Given the description of an element on the screen output the (x, y) to click on. 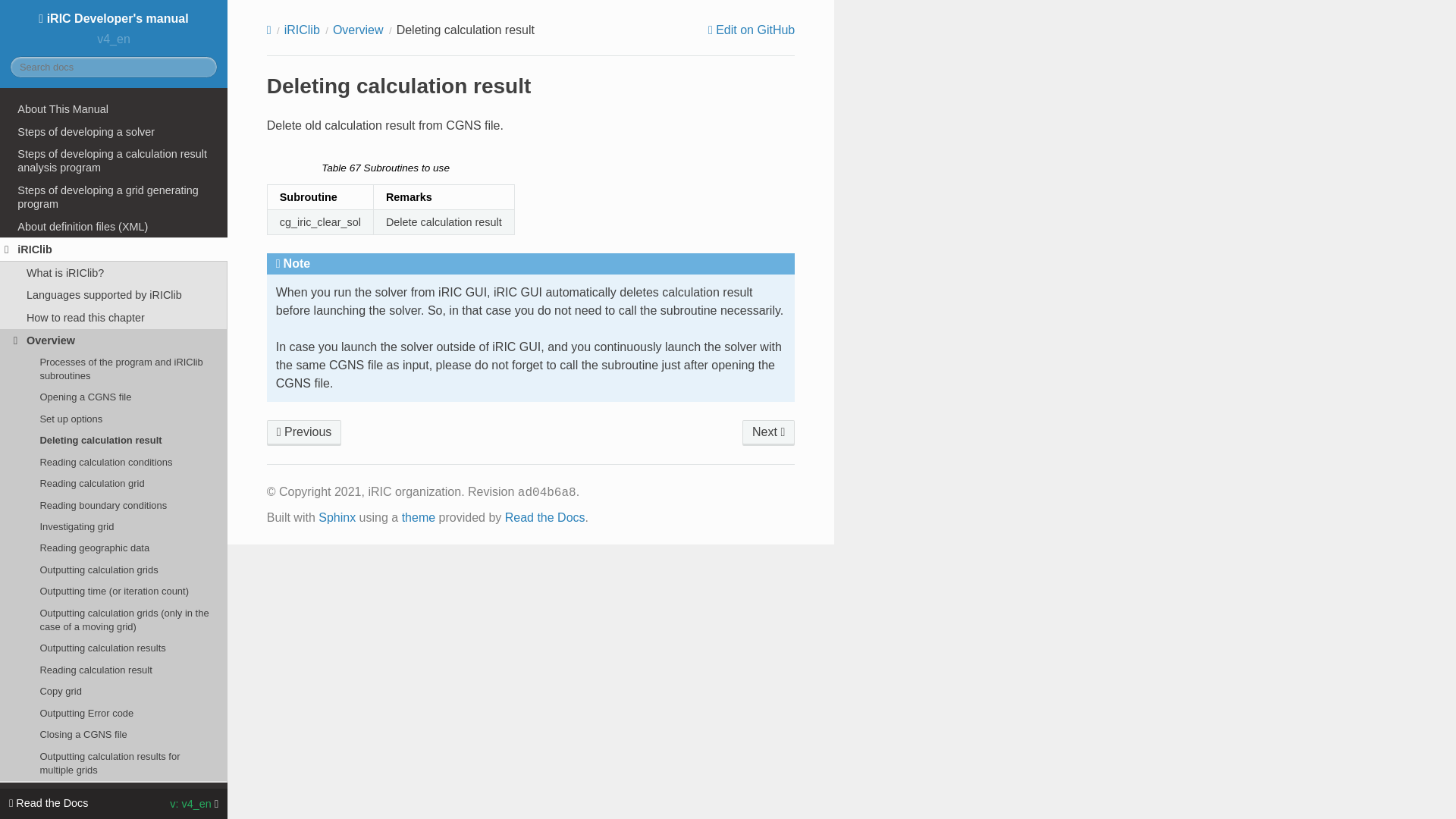
Reading calculation grid (113, 483)
Overview (113, 340)
Reading calculation result (113, 670)
Reading calculation conditions (113, 461)
Reading calculation conditions (768, 432)
About This Manual (113, 108)
Steps of developing a grid generating program (113, 197)
Investigating grid (113, 526)
iRIC Developer's manual (112, 18)
Processes of the program and iRIClib subroutines (113, 368)
